Given the description of an element on the screen output the (x, y) to click on. 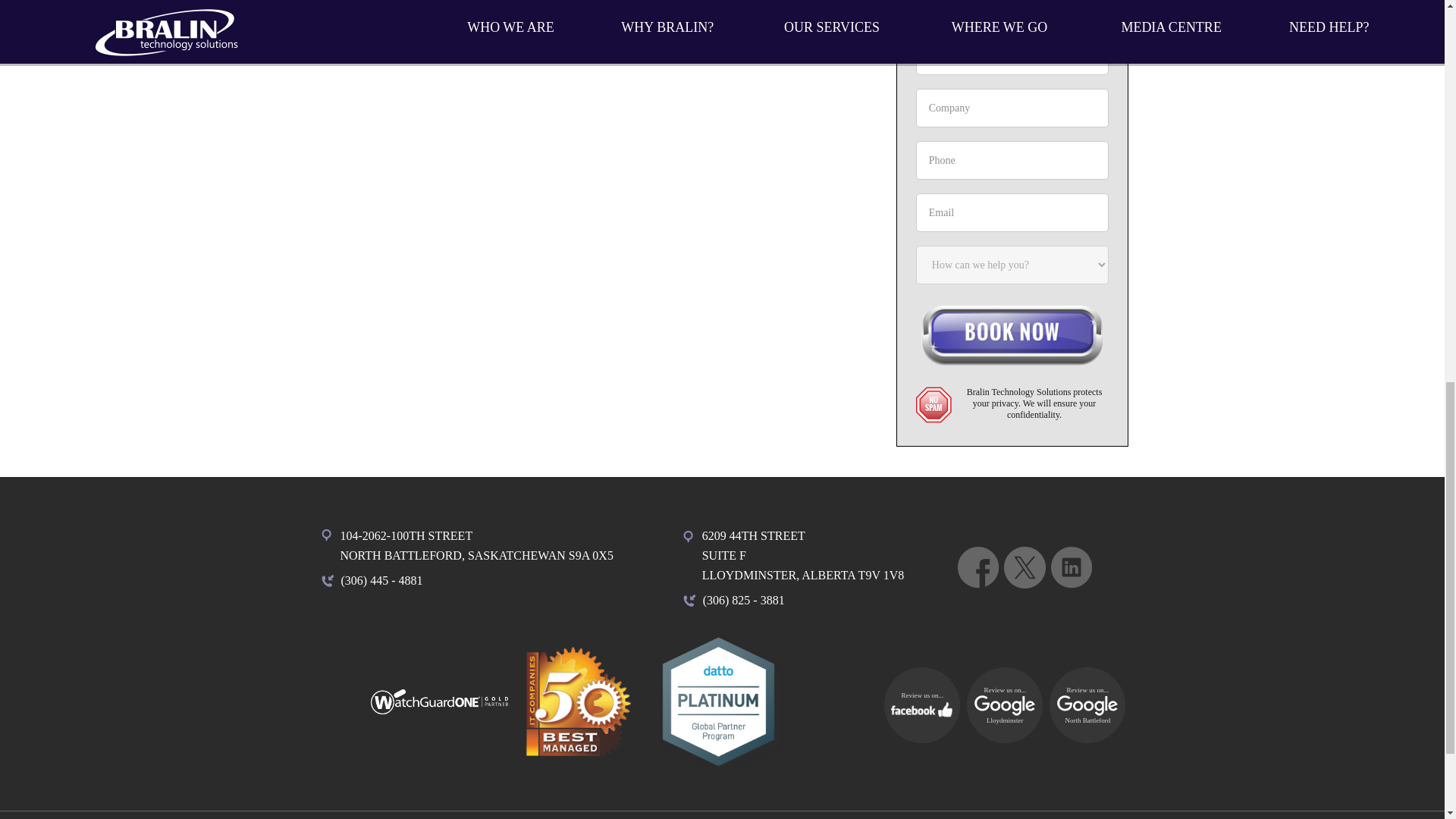
BOOK NOW (1087, 704)
Review us on... (1004, 704)
BOOK NOW (1012, 338)
